Given the description of an element on the screen output the (x, y) to click on. 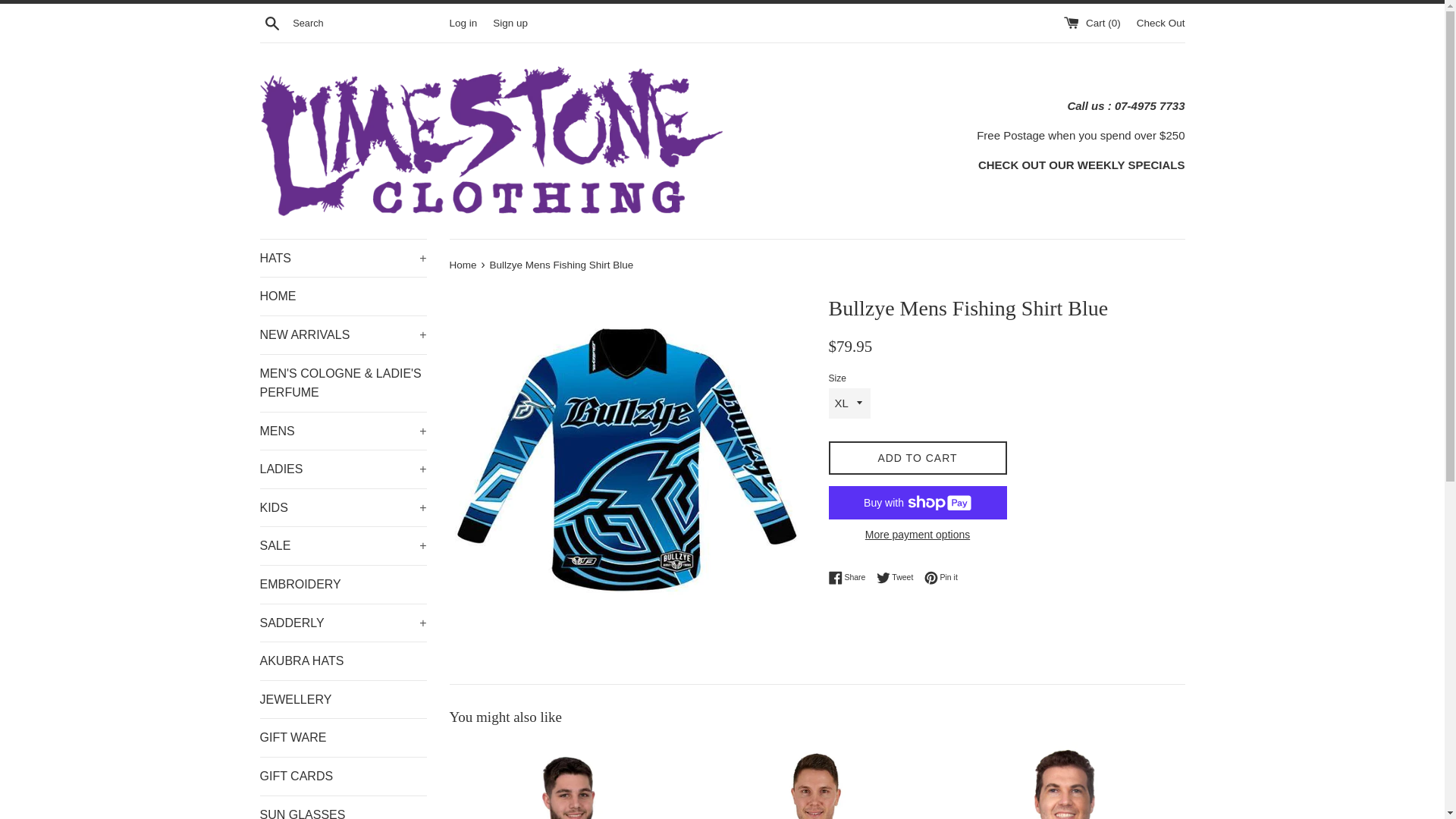
SADDERLY
+ Element type: text (342, 623)
JEWELLERY Element type: text (342, 699)
Check Out Element type: text (1160, 22)
EMBROIDERY Element type: text (342, 584)
Share
Share on Facebook Element type: text (850, 577)
AKUBRA HATS Element type: text (342, 661)
MENS
+ Element type: text (342, 431)
SALE
+ Element type: text (342, 545)
GIFT CARDS Element type: text (342, 776)
Tweet
Tweet on Twitter Element type: text (898, 577)
GIFT WARE Element type: text (342, 737)
Home Element type: text (463, 264)
Log in Element type: text (462, 22)
NEW ARRIVALS
+ Element type: text (342, 335)
More payment options Element type: text (917, 534)
Sign up Element type: text (509, 22)
Cart (0) Element type: text (1093, 22)
LADIES
+ Element type: text (342, 469)
Search Element type: text (271, 21)
HATS
+ Element type: text (342, 258)
Pin it
Pin on Pinterest Element type: text (940, 577)
MEN'S COLOGNE & LADIE'S PERFUME Element type: text (342, 382)
HOME Element type: text (342, 296)
KIDS
+ Element type: text (342, 508)
ADD TO CART Element type: text (917, 458)
